Given the description of an element on the screen output the (x, y) to click on. 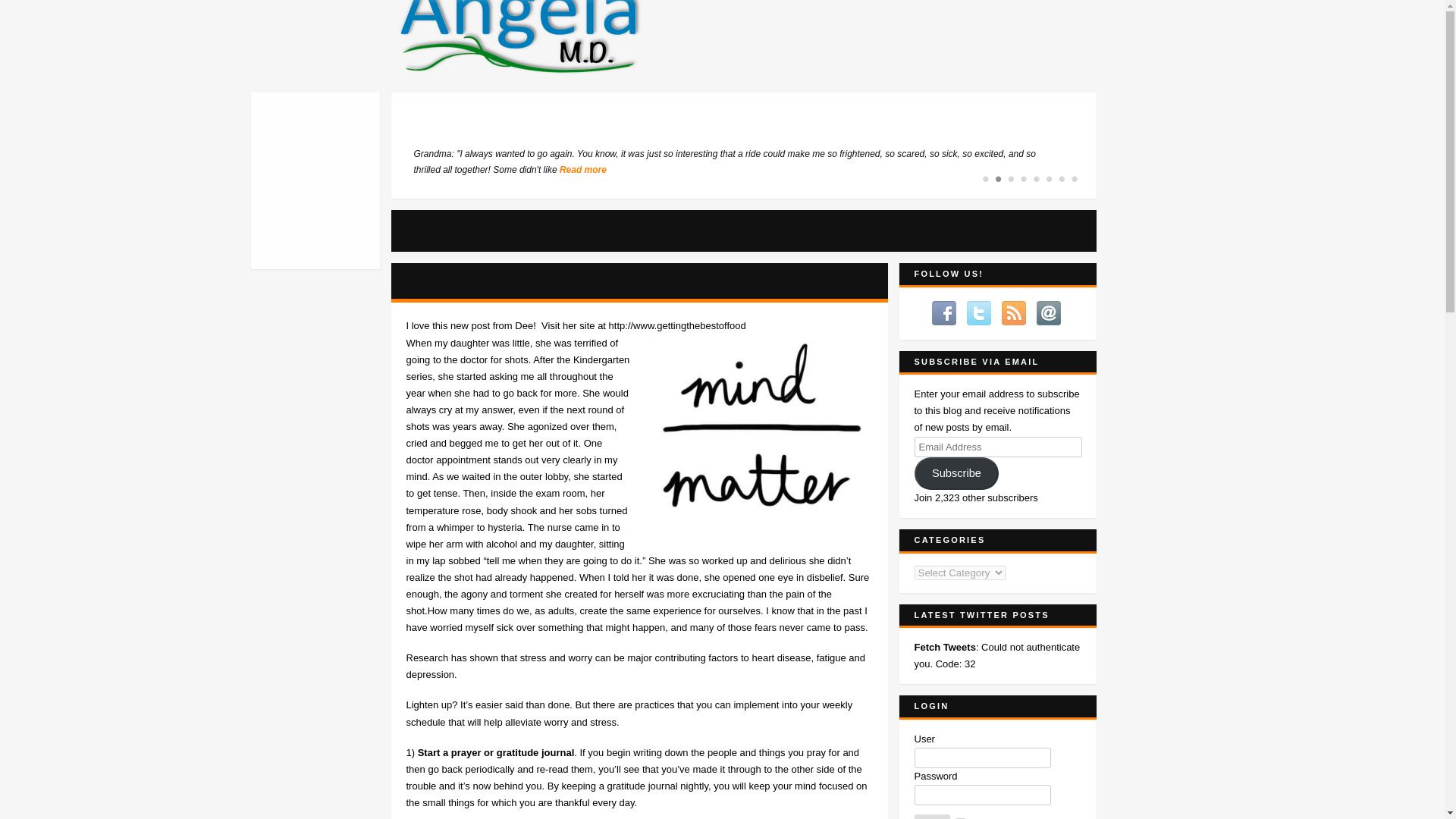
Read more (583, 169)
Home (350, 110)
Follow Us on Twitter (979, 313)
Follow Us on RSS (1014, 313)
forever (960, 816)
Disclaimer (324, 190)
About Me (346, 150)
Read Mindset Matters! (466, 280)
Login (932, 816)
Follow Us on Facebook (944, 313)
Follow Us on E-mail (1048, 313)
